Given the description of an element on the screen output the (x, y) to click on. 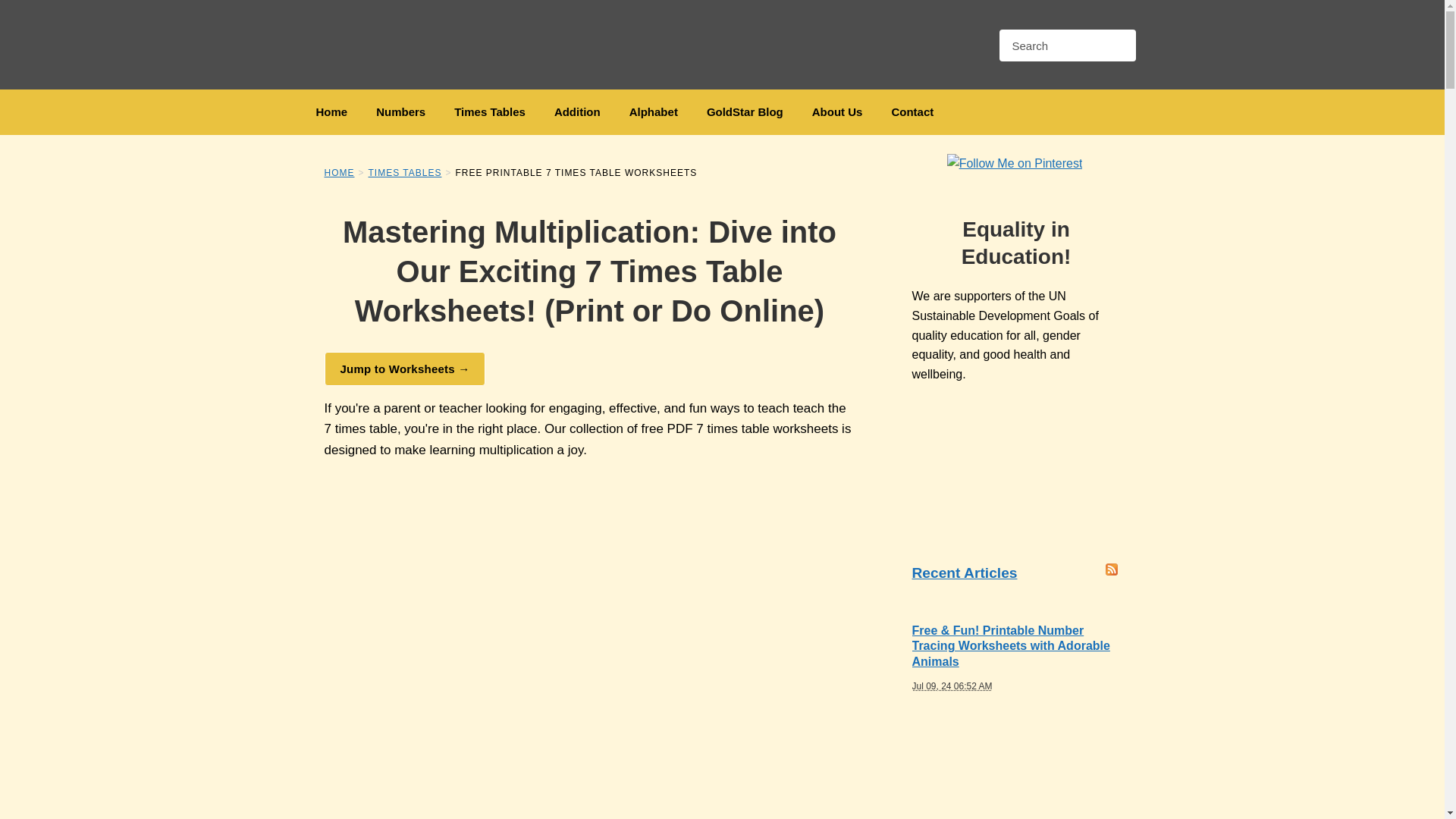
Alphabet (653, 112)
MY WEBSITE (400, 44)
Home (331, 112)
TIMES TABLES (405, 172)
Numbers (400, 112)
Times Tables (489, 112)
GoldStar Blog (745, 112)
About Us (837, 112)
Contact (911, 112)
Go (1117, 45)
